Given the description of an element on the screen output the (x, y) to click on. 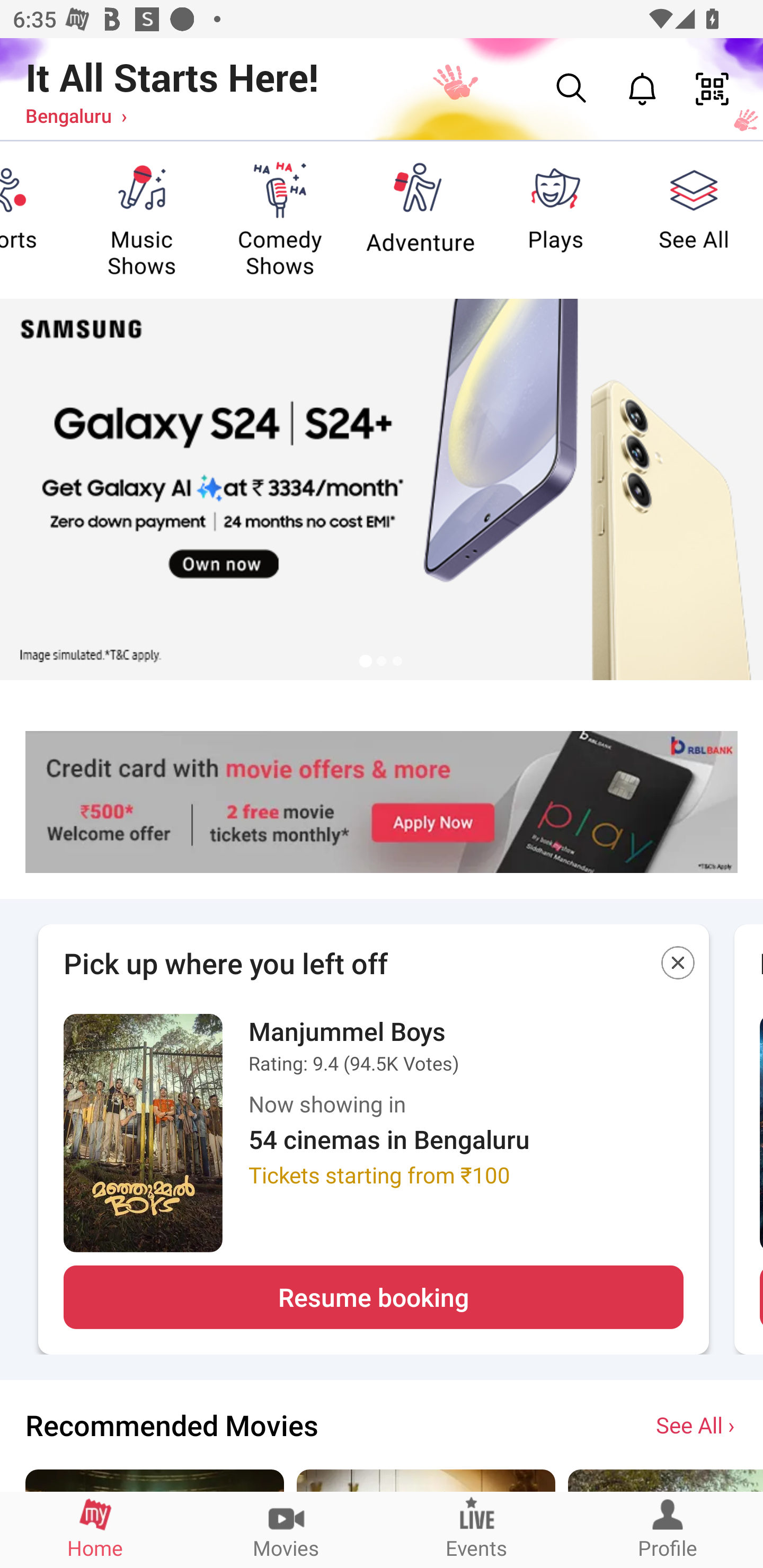
Bengaluru  › (76, 114)
  (678, 966)
Resume booking (373, 1297)
See All › (696, 1424)
Home (95, 1529)
Movies (285, 1529)
Events (476, 1529)
Profile (667, 1529)
